Given the description of an element on the screen output the (x, y) to click on. 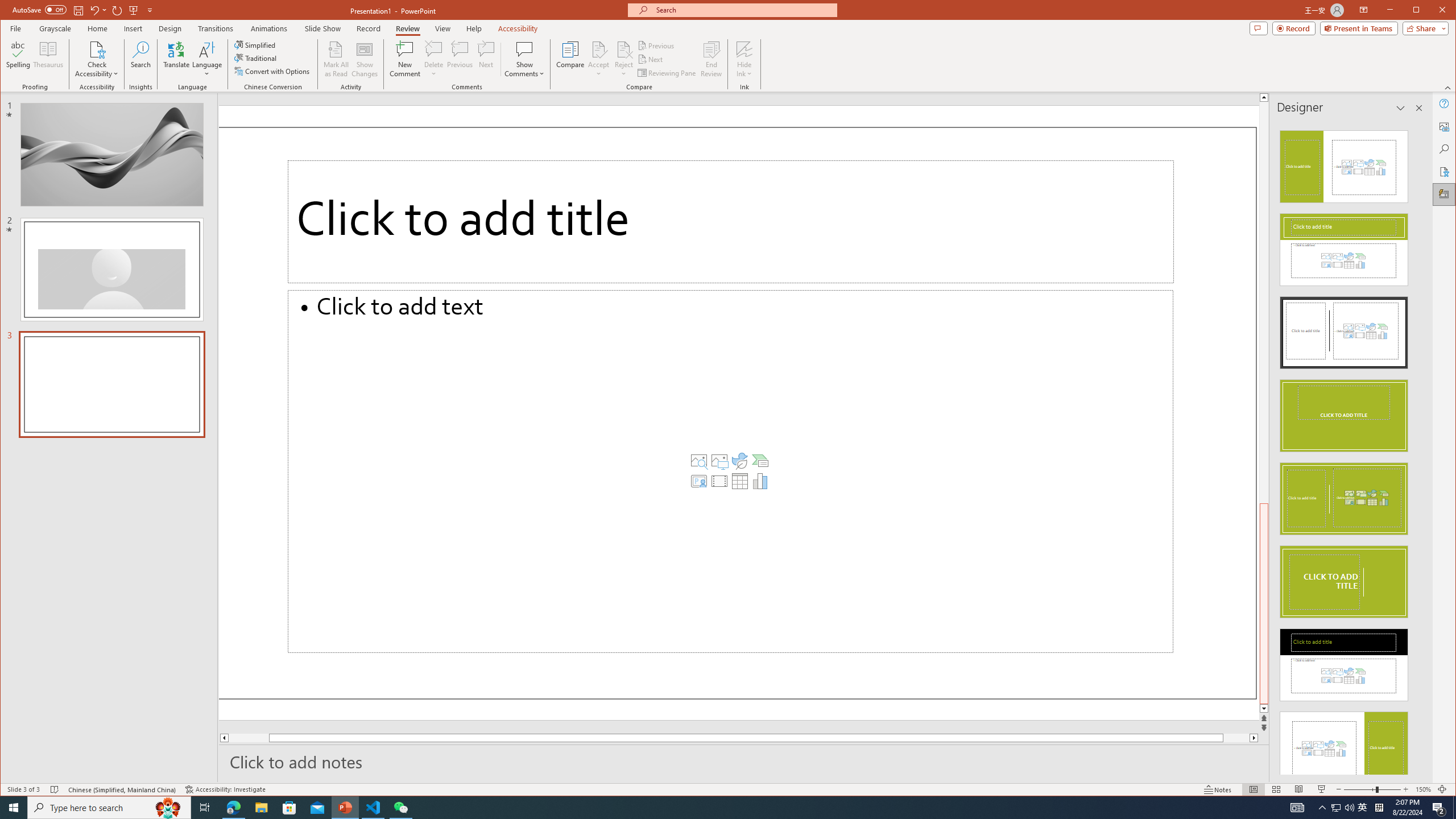
Spelling... (18, 59)
Traditional (256, 57)
Class: NetUIScrollBar (1417, 447)
